Given the description of an element on the screen output the (x, y) to click on. 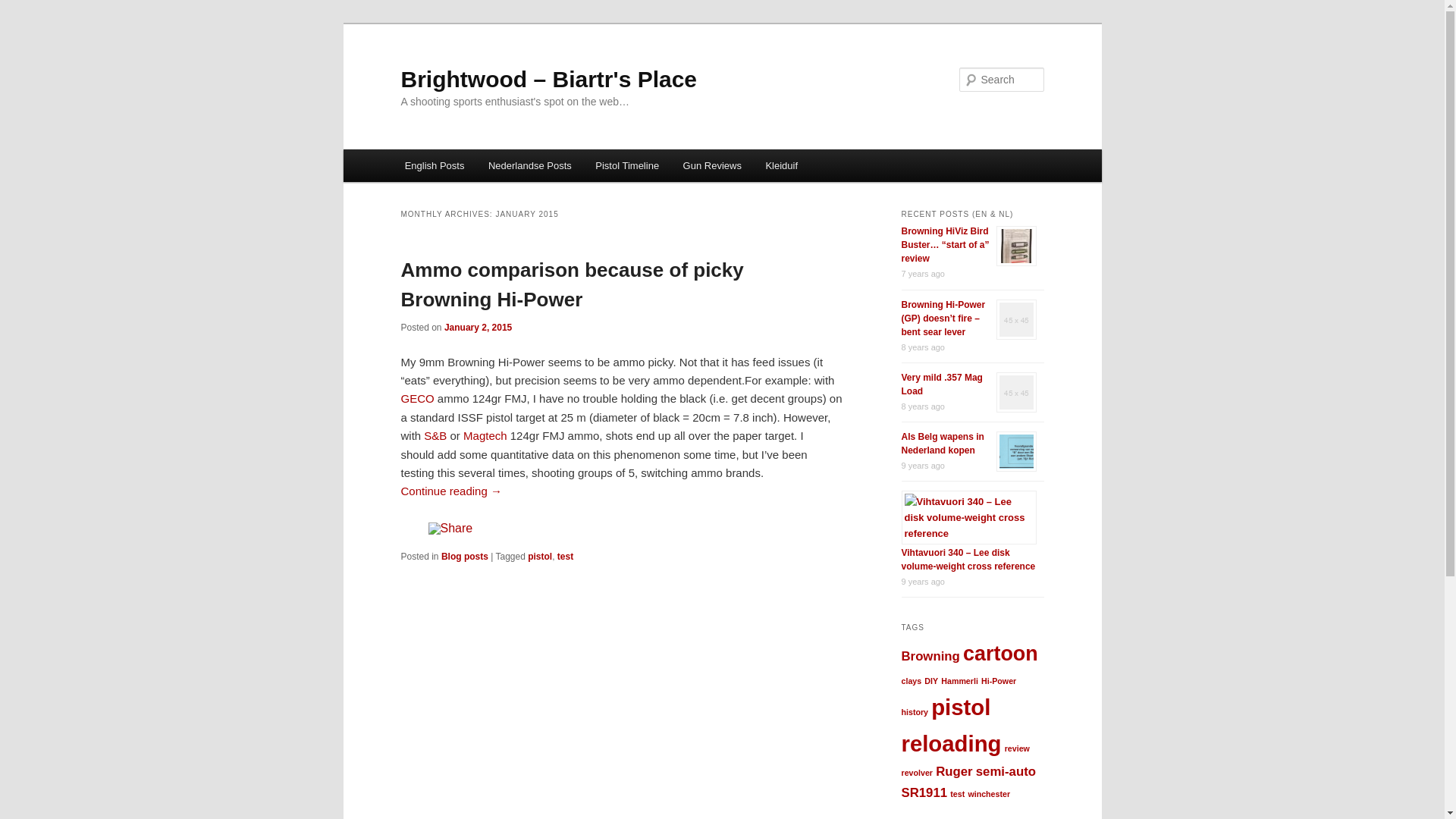
DIY Element type: text (931, 680)
Search Element type: text (24, 8)
history Element type: text (914, 711)
Hi-Power Element type: text (998, 680)
GECO Element type: text (416, 398)
cartoon Element type: text (1000, 653)
SR1911 Element type: text (923, 792)
Very mild .357 Mag Load Element type: text (941, 384)
revolver Element type: text (915, 772)
Skip to primary content Element type: text (414, 149)
English Posts Element type: text (434, 165)
pistol Element type: text (539, 556)
clays Element type: text (910, 680)
Magtech Element type: text (485, 435)
Kleiduif Element type: text (781, 165)
S&B Element type: text (434, 435)
Pistol Timeline Element type: text (627, 165)
Als Belg wapens in Nederland kopen Element type: text (941, 443)
pistol Element type: text (960, 706)
semi-auto Element type: text (1005, 771)
Blog posts Element type: text (464, 556)
Hammerli Element type: text (959, 680)
January 2, 2015 Element type: text (477, 327)
test Element type: text (565, 556)
Ruger Element type: text (953, 771)
reloading Element type: text (950, 743)
Nederlandse Posts Element type: text (529, 165)
Ammo comparison because of picky Browning Hi-Power Element type: text (571, 284)
review Element type: text (1016, 748)
winchester Element type: text (988, 793)
Gun Reviews Element type: text (712, 165)
Browning Element type: text (929, 656)
test Element type: text (957, 793)
